Given the description of an element on the screen output the (x, y) to click on. 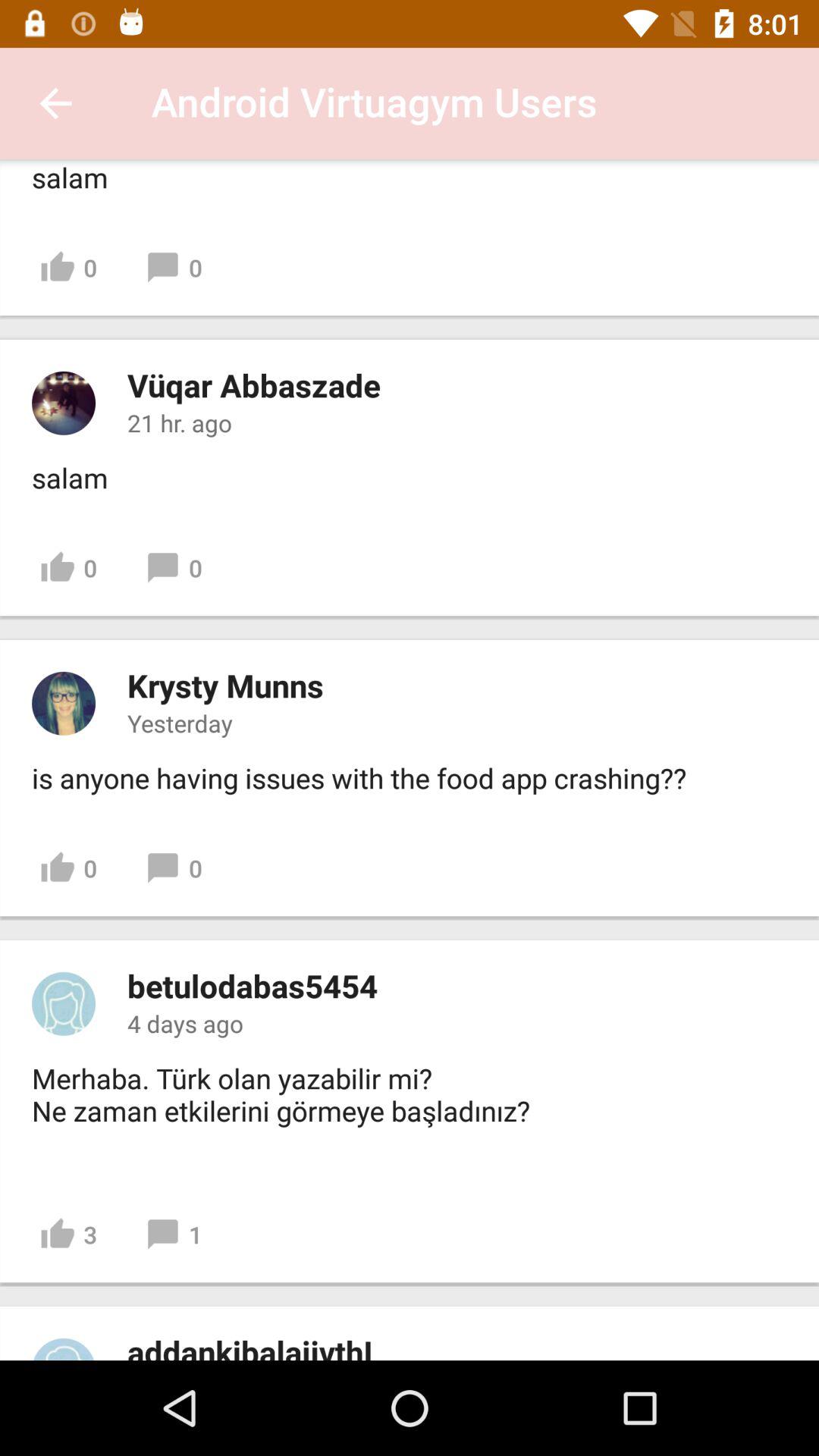
click the item below the 4 days ago (284, 1111)
